Given the description of an element on the screen output the (x, y) to click on. 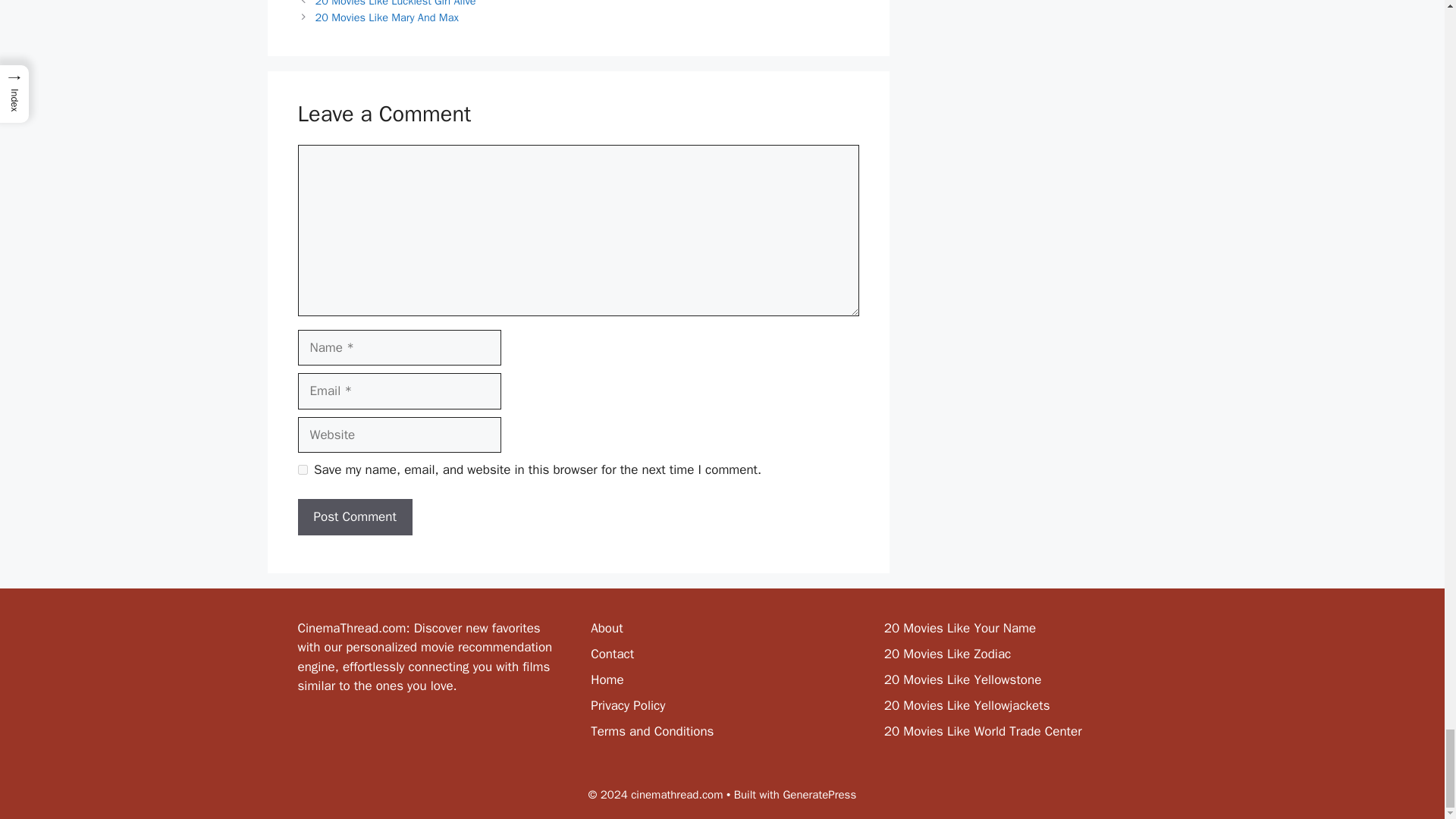
Post Comment (354, 516)
yes (302, 470)
